Given the description of an element on the screen output the (x, y) to click on. 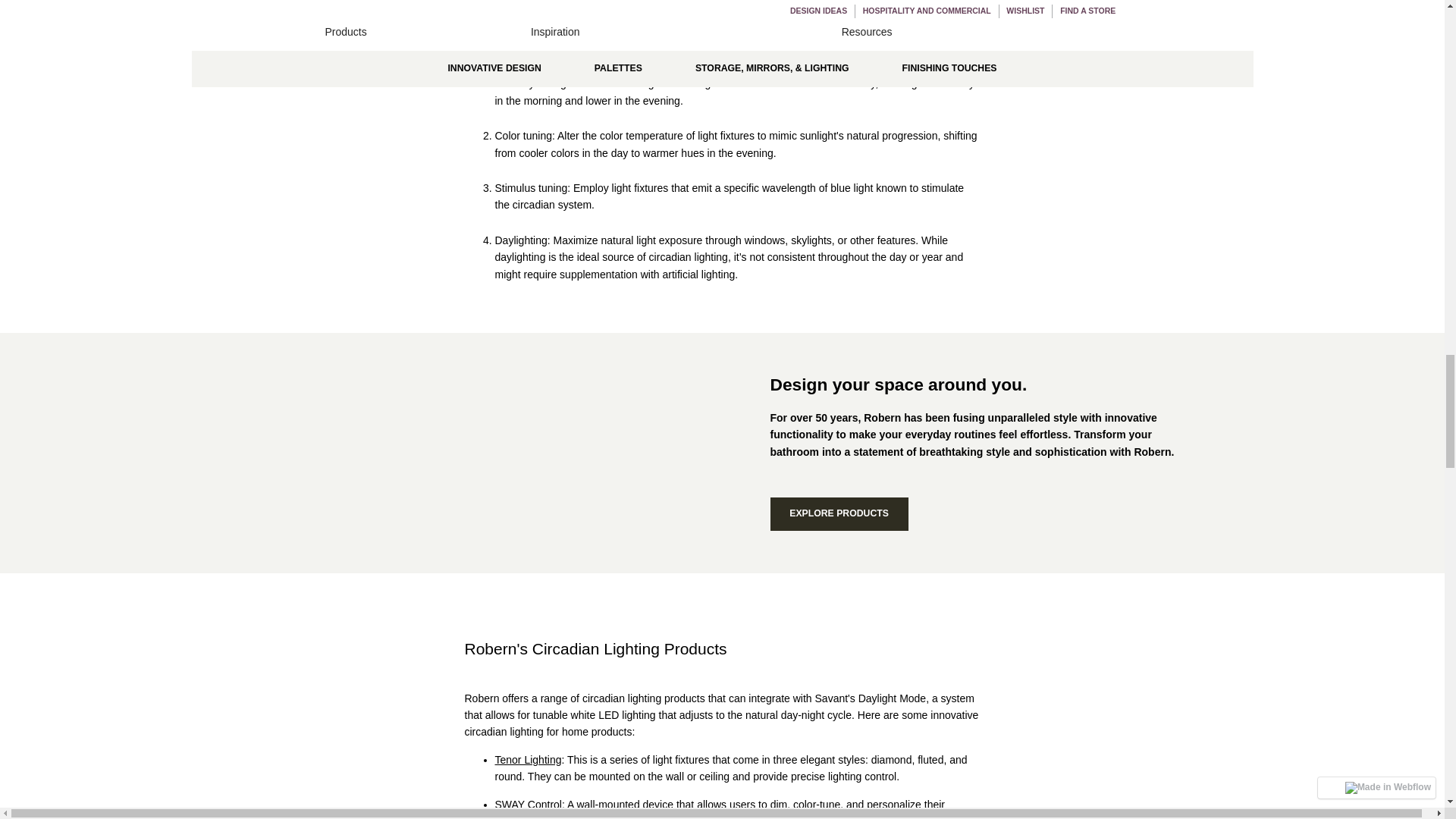
EXPLORE PRODUCTS (839, 513)
Elena Pimukova (721, 8)
Tenor Lighting (527, 759)
SWAY Control (527, 804)
